Given the description of an element on the screen output the (x, y) to click on. 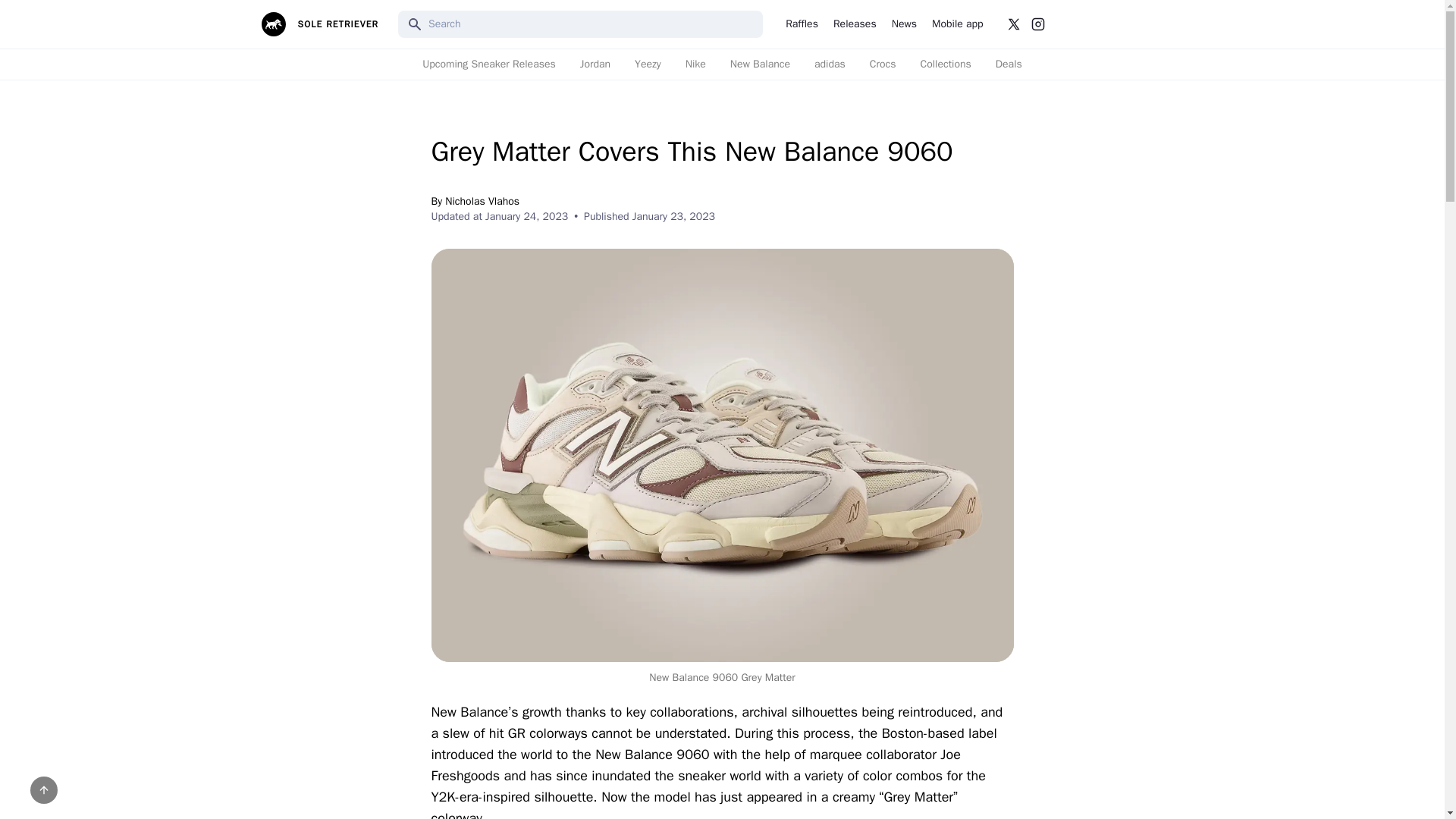
Raffles (802, 23)
Jordan (594, 64)
News (904, 23)
Jordan (595, 64)
Mobile app (957, 23)
SOLE RETRIEVER (319, 24)
Upcoming Sneaker Releases (488, 64)
Upcoming Sneaker Releases (489, 64)
Releases (854, 23)
